Given the description of an element on the screen output the (x, y) to click on. 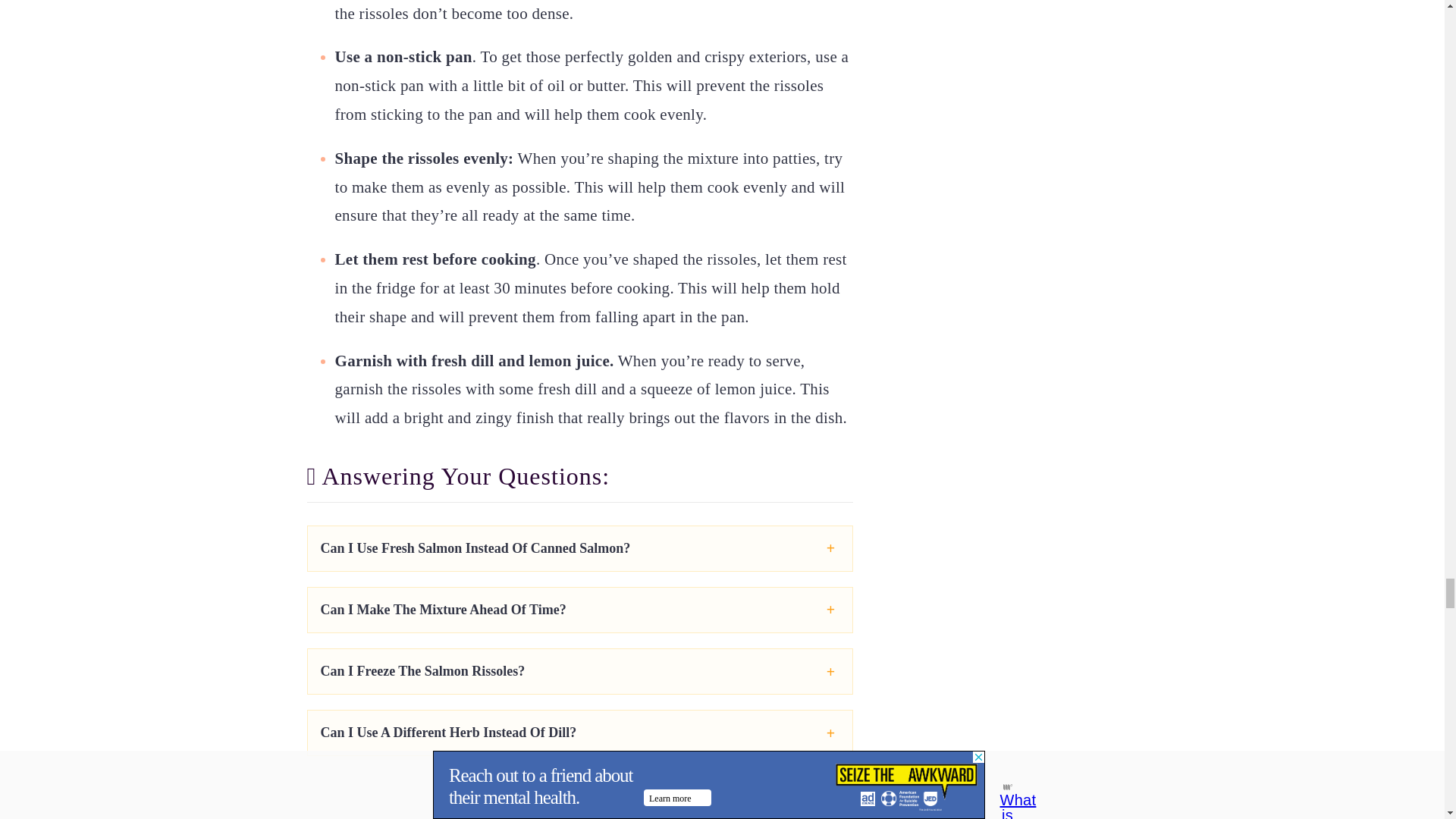
Can I Use Fresh Salmon Instead Of Canned Salmon? (475, 547)
Can I Use A Different Herb Instead Of Dill? (448, 732)
Can I Freeze The Salmon Rissoles? (422, 670)
Can I Make The Mixture Ahead Of Time? (443, 609)
